Given the description of an element on the screen output the (x, y) to click on. 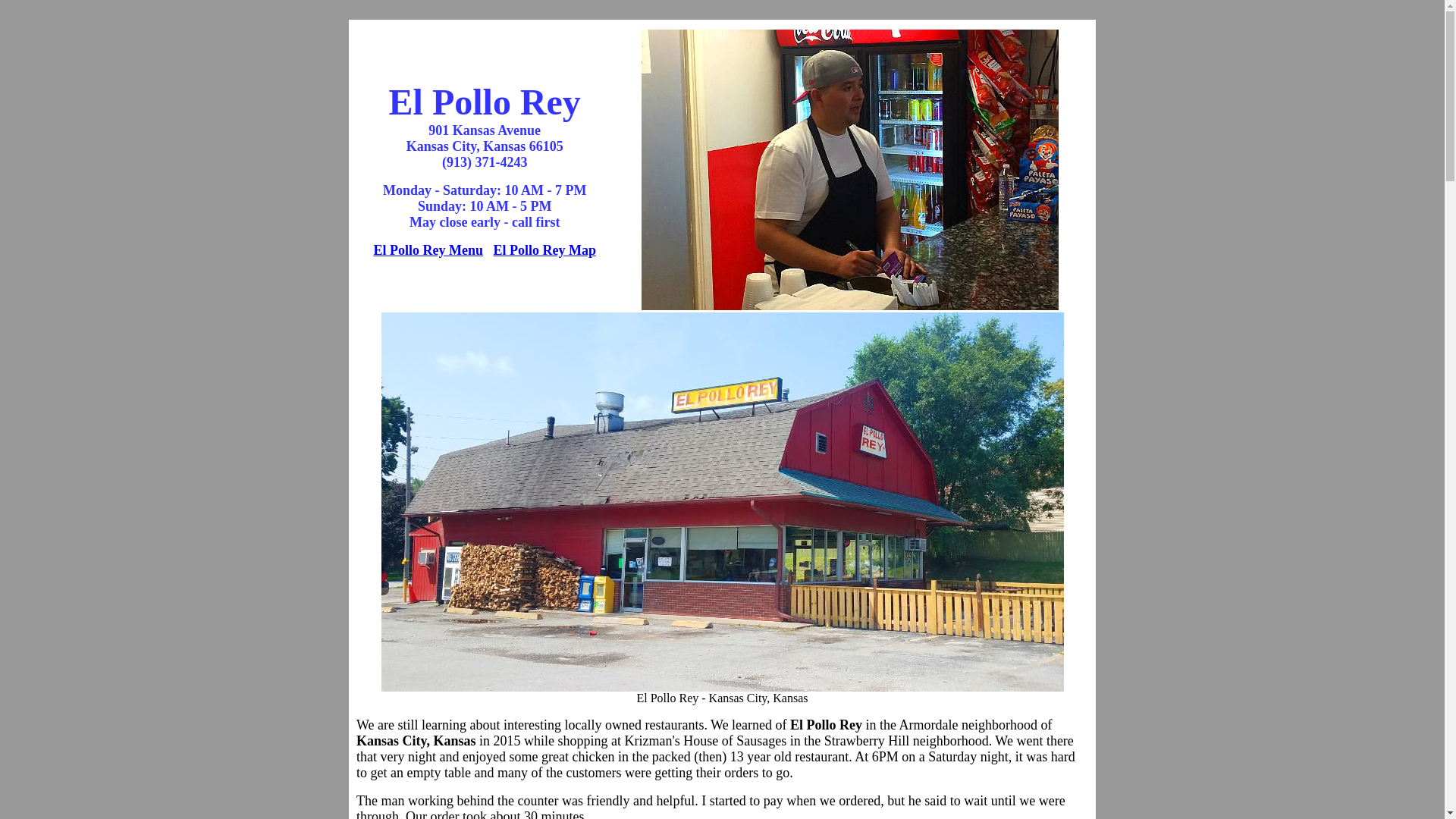
El Pollo Rey Menu (427, 249)
El Pollo Rey Map (544, 249)
